Given the description of an element on the screen output the (x, y) to click on. 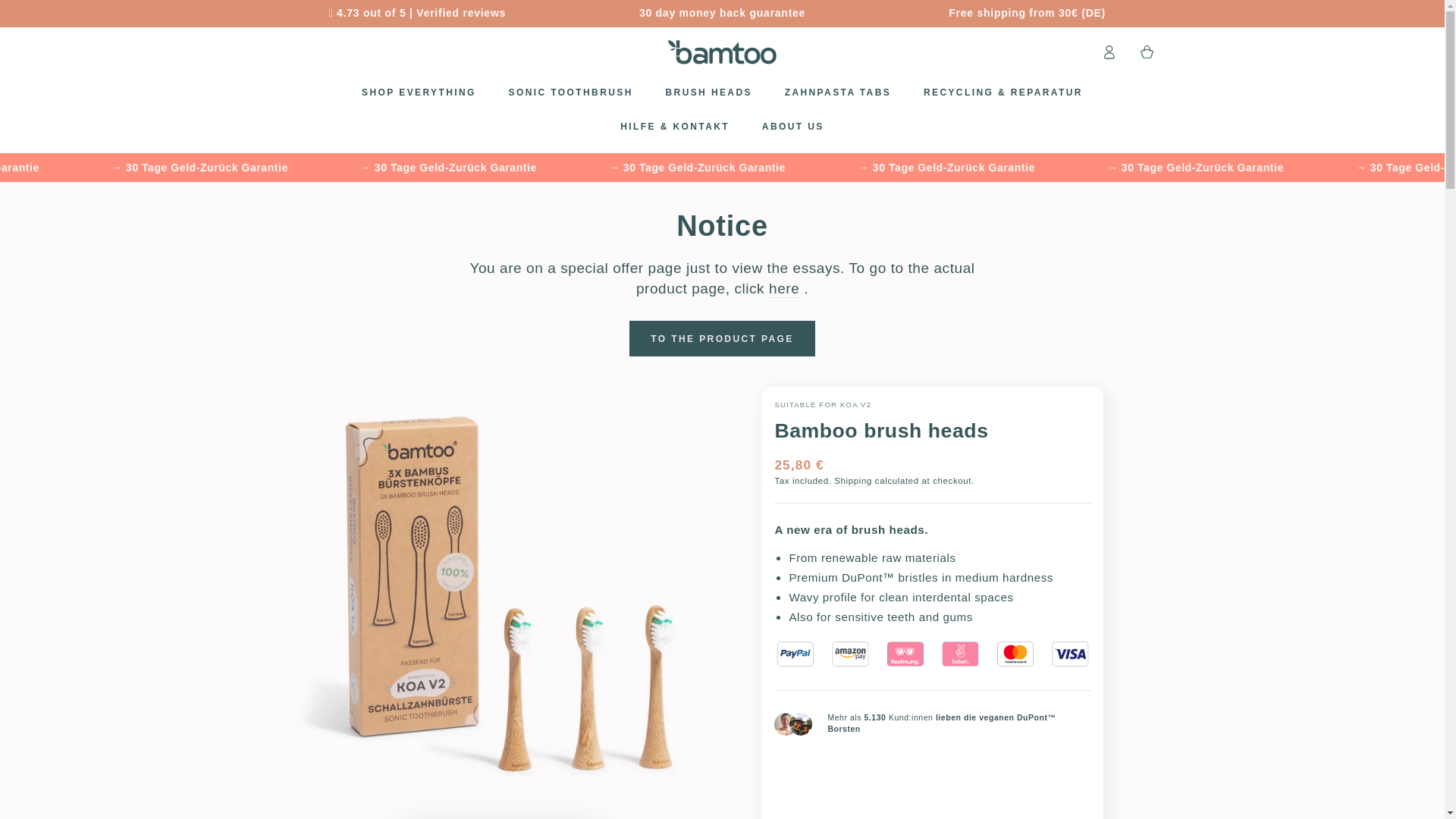
ZAHNPASTA TABS (837, 92)
Bamboo brush heads (783, 289)
BRUSH HEADS (707, 92)
Log in (1108, 51)
ABOUT US (792, 126)
SHOP EVERYTHING (418, 92)
SONIC TOOTHBRUSH (570, 92)
30 day money back guarantee (722, 13)
SKIP TO CONTENT (64, 13)
